Given the description of an element on the screen output the (x, y) to click on. 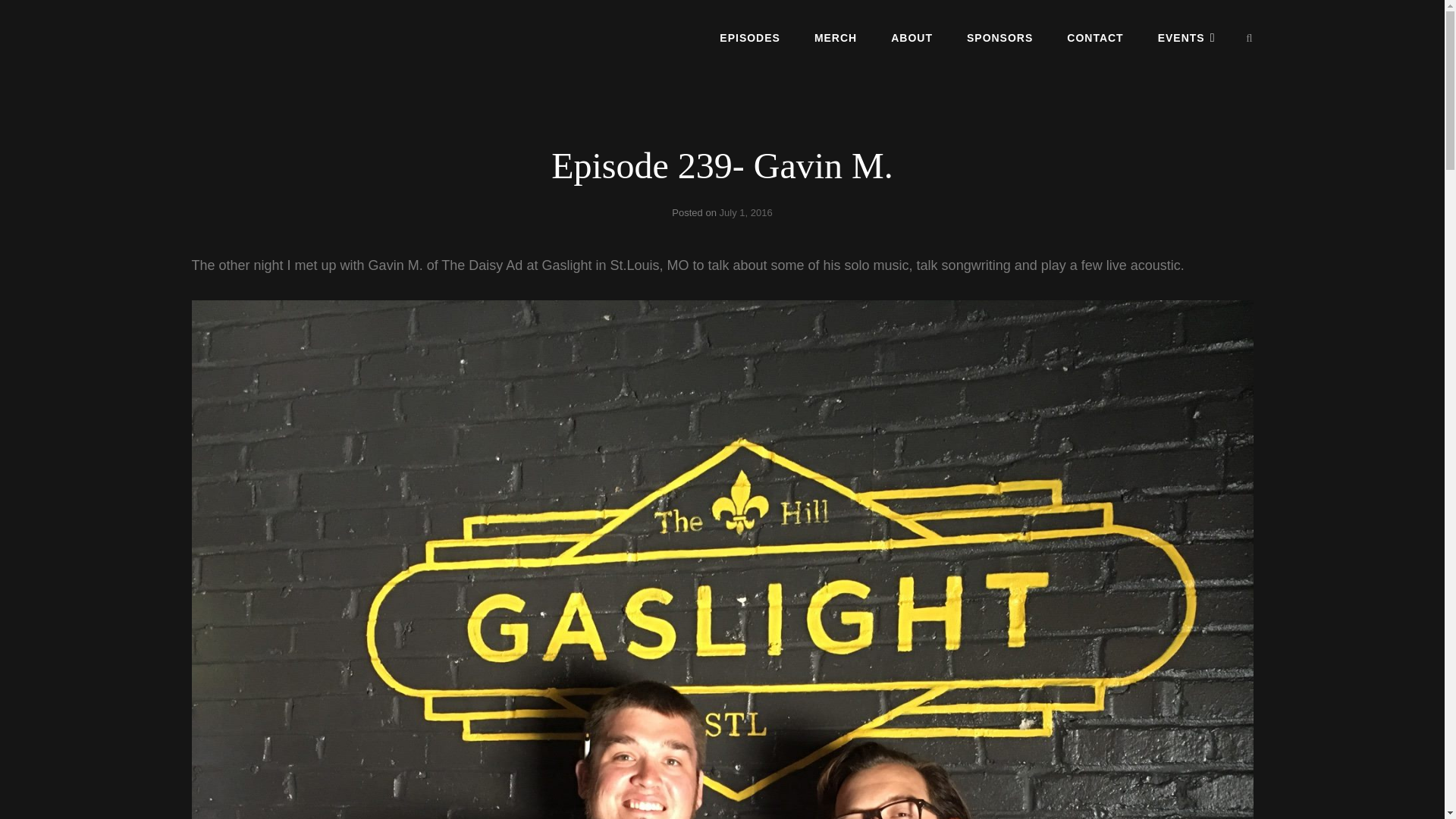
ROCK PAPER PODCAST (304, 50)
EVENTS (1186, 37)
ABOUT (911, 37)
CONTACT (1094, 37)
MERCH (835, 37)
SEARCH (1249, 37)
July 1, 2016 (746, 212)
SPONSORS (1000, 37)
EPISODES (749, 37)
